Given the description of an element on the screen output the (x, y) to click on. 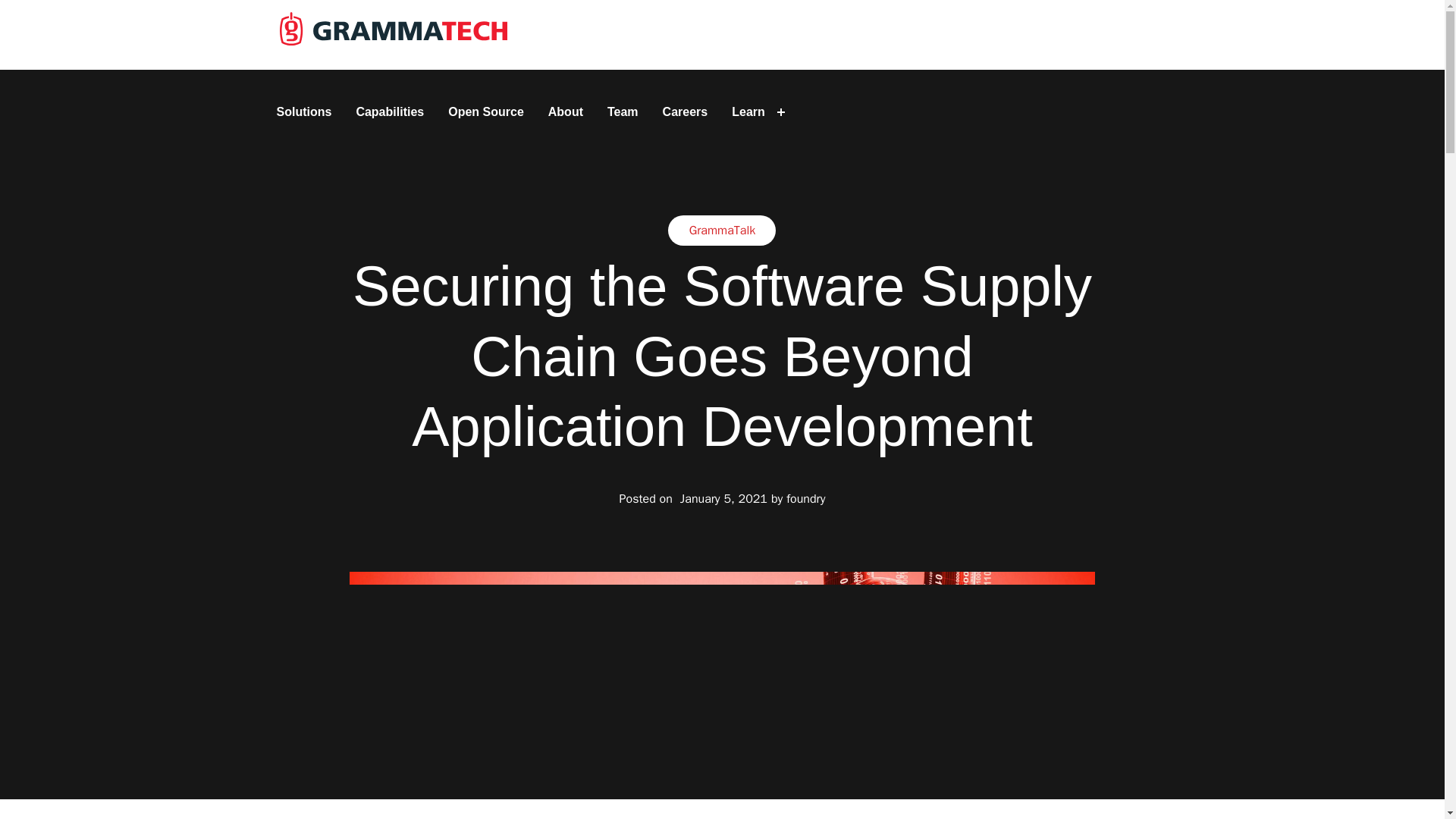
CONTACT US (1108, 34)
Capabilities (389, 112)
About (565, 112)
Careers (685, 112)
Team (622, 112)
Solutions (303, 112)
Open Source (485, 112)
Learn (748, 112)
